Given the description of an element on the screen output the (x, y) to click on. 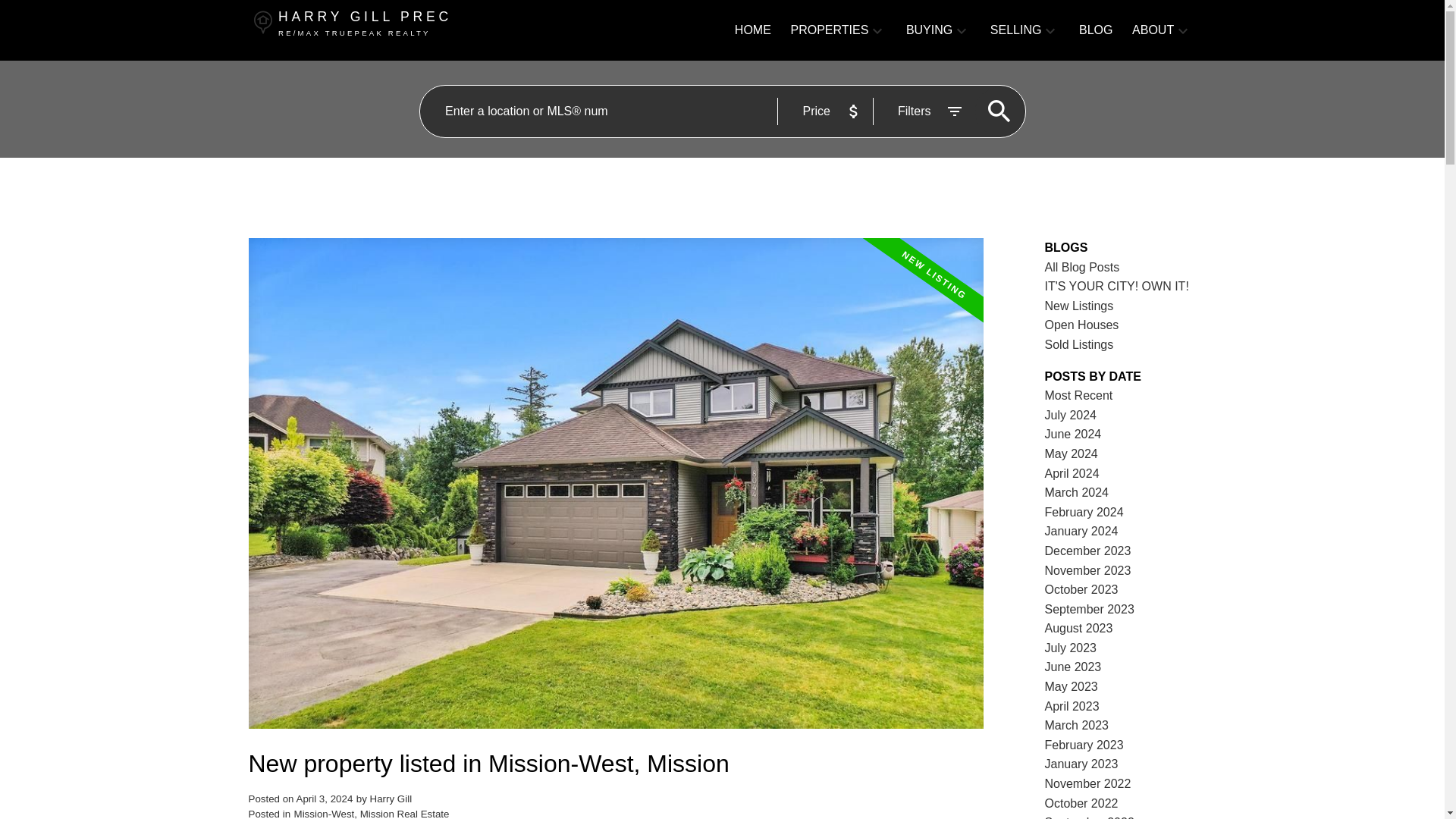
March 2024 (1077, 492)
Open Houses (1082, 324)
February 2024 (1084, 512)
June 2024 (1073, 433)
July 2024 (1071, 414)
All Blog Posts (1082, 267)
HOME (753, 30)
Sold Listings (1079, 344)
IT'S YOUR CITY! OWN IT! (1117, 286)
Mission-West, Mission Real Estate (371, 813)
